Given the description of an element on the screen output the (x, y) to click on. 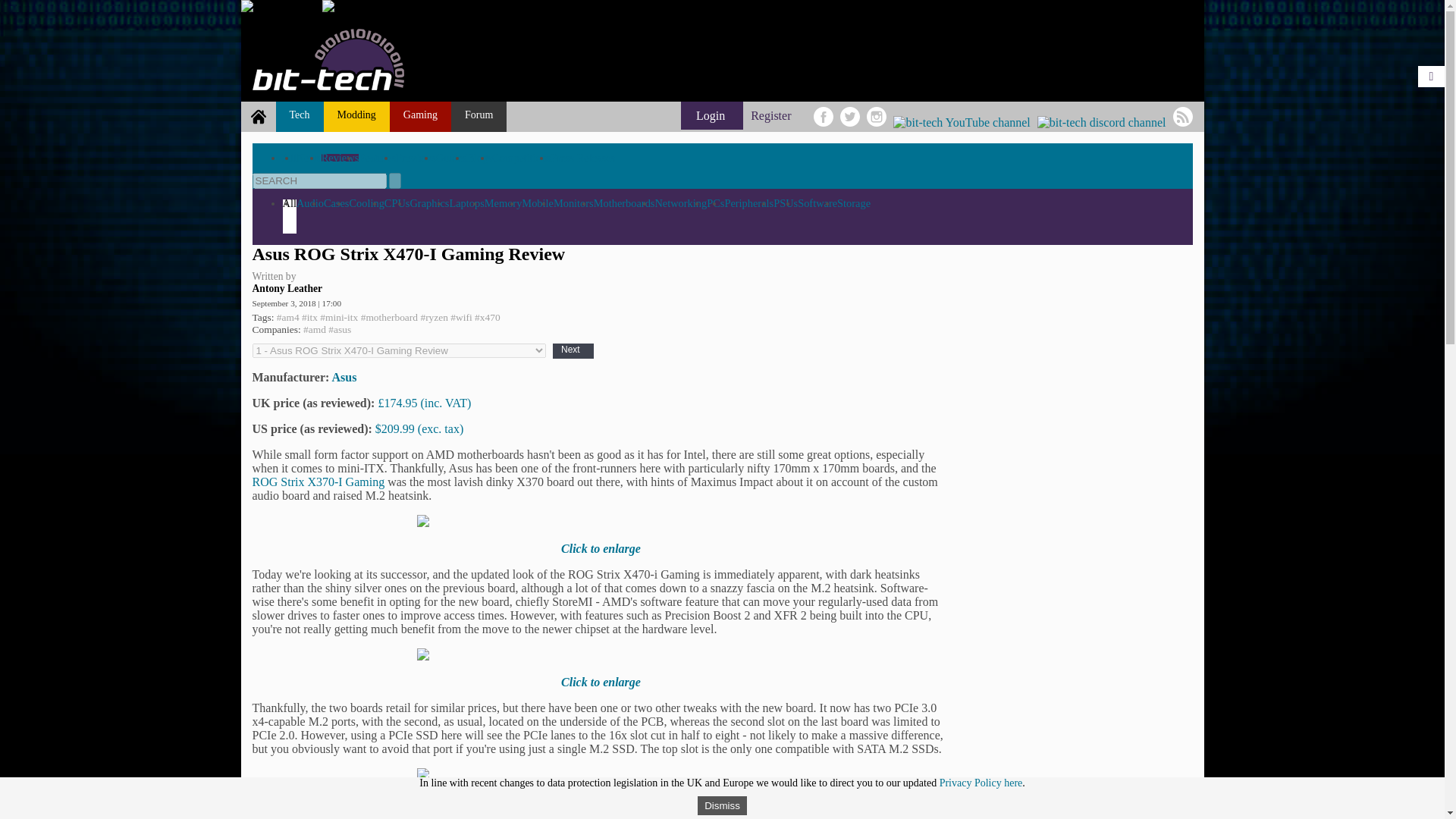
Press Releases (582, 157)
Laptops (465, 203)
Audio (310, 203)
Previews (415, 157)
Memory (503, 203)
Register (769, 115)
PCs (714, 203)
Blogs (480, 157)
News (309, 157)
Graphics (428, 203)
